Given the description of an element on the screen output the (x, y) to click on. 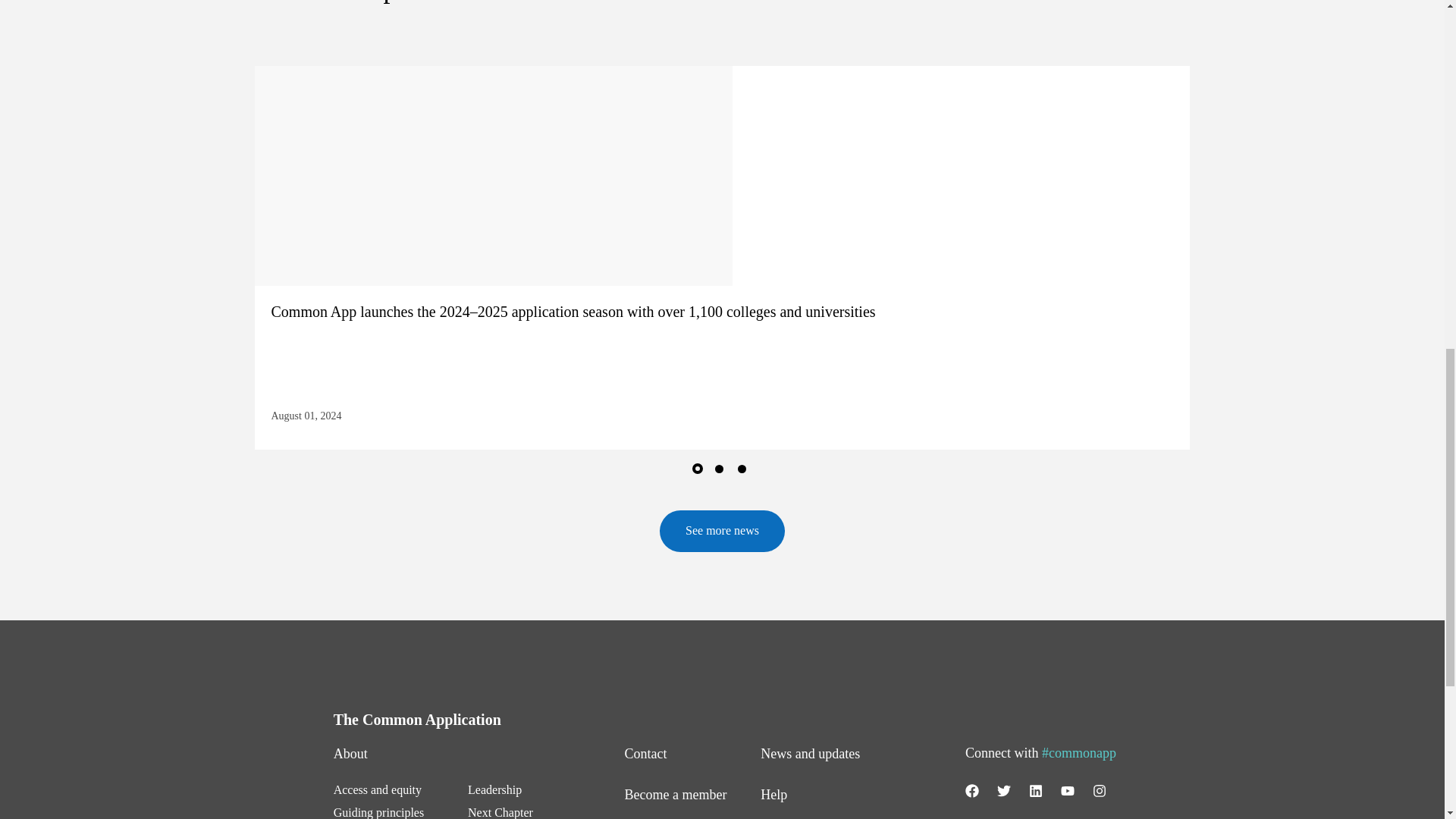
Access and equity (377, 789)
Youtube icon (1067, 790)
About (350, 753)
1 (698, 472)
See more news (721, 531)
Leadership (494, 789)
Guiding principles (379, 812)
3 (744, 472)
LinkedIn icon (1035, 790)
Instagram icon (1099, 790)
Twitter icon (1003, 790)
Facebook icon (971, 790)
2 (721, 472)
Next Chapter (502, 812)
